Given the description of an element on the screen output the (x, y) to click on. 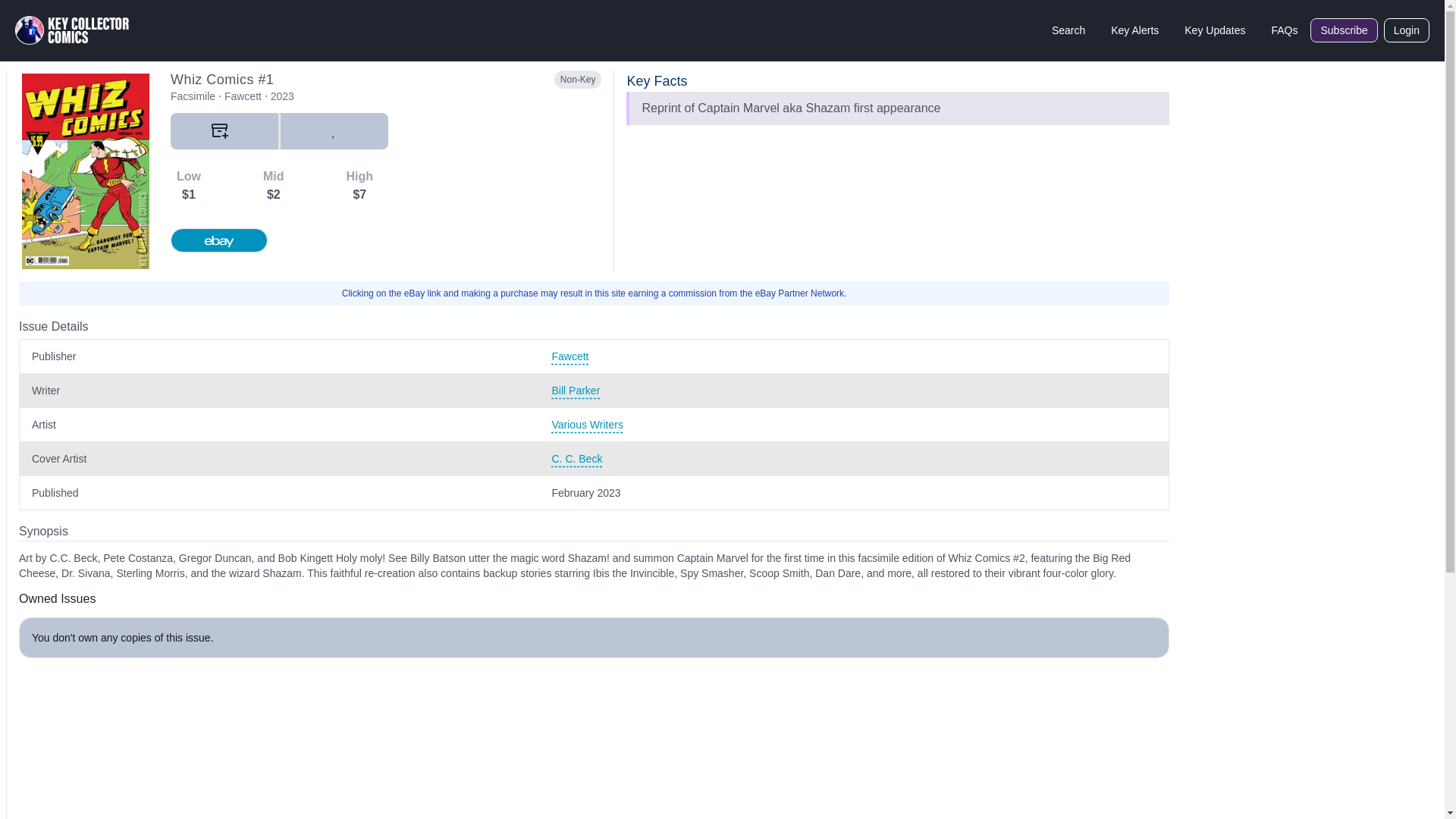
Fawcett (854, 355)
FAQs (1283, 30)
Subscribe (1343, 30)
C. C. Beck (854, 458)
Key Alerts (1134, 30)
Login (1406, 30)
Bill Parker (854, 390)
Key Updates (1214, 30)
Various Writers (854, 424)
